Given the description of an element on the screen output the (x, y) to click on. 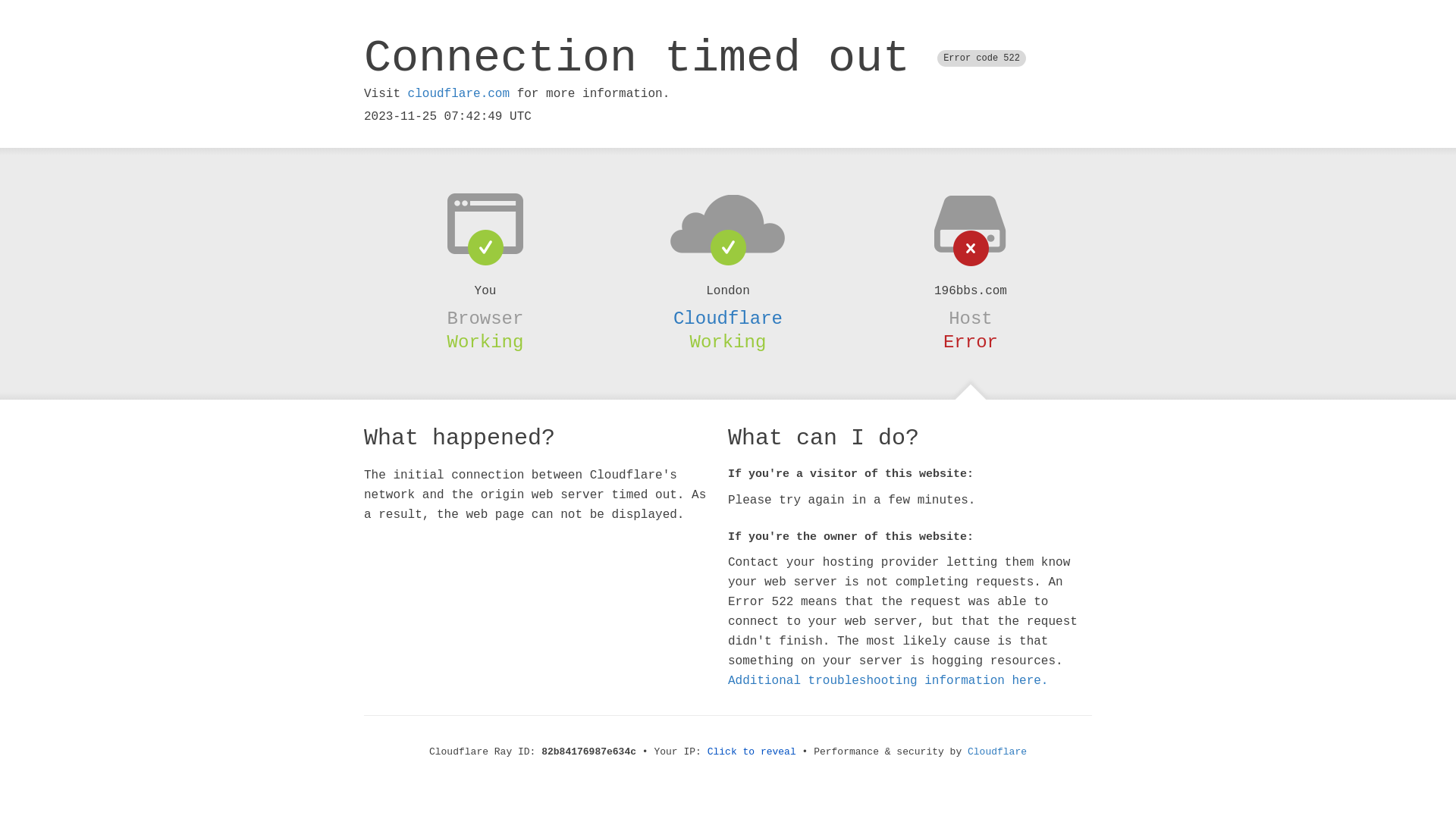
cloudflare.com Element type: text (458, 93)
Cloudflare Element type: text (996, 751)
Additional troubleshooting information here. Element type: text (888, 680)
Cloudflare Element type: text (727, 318)
Click to reveal Element type: text (751, 751)
